Given the description of an element on the screen output the (x, y) to click on. 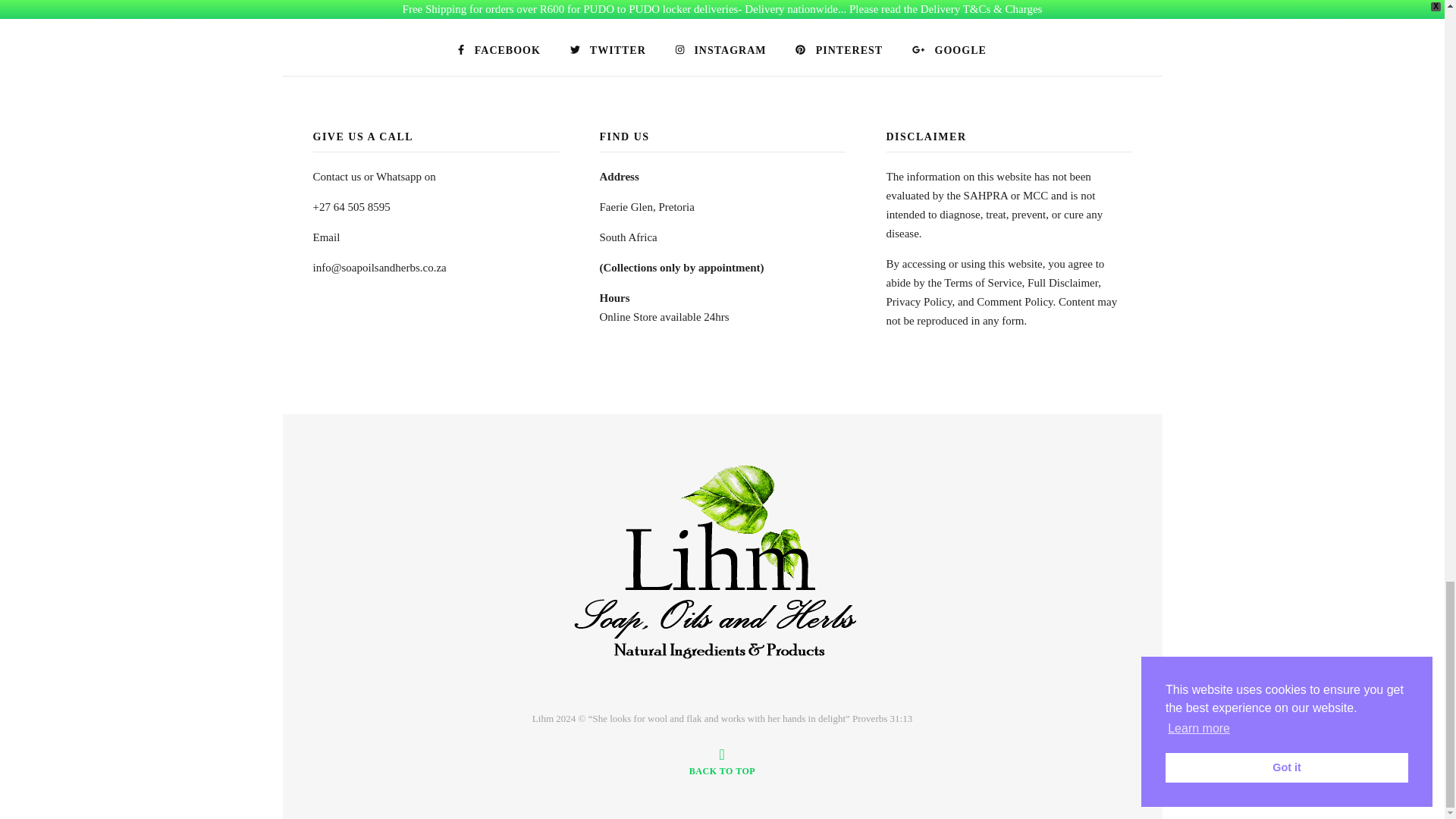
BACK TO TOP (722, 761)
